Given the description of an element on the screen output the (x, y) to click on. 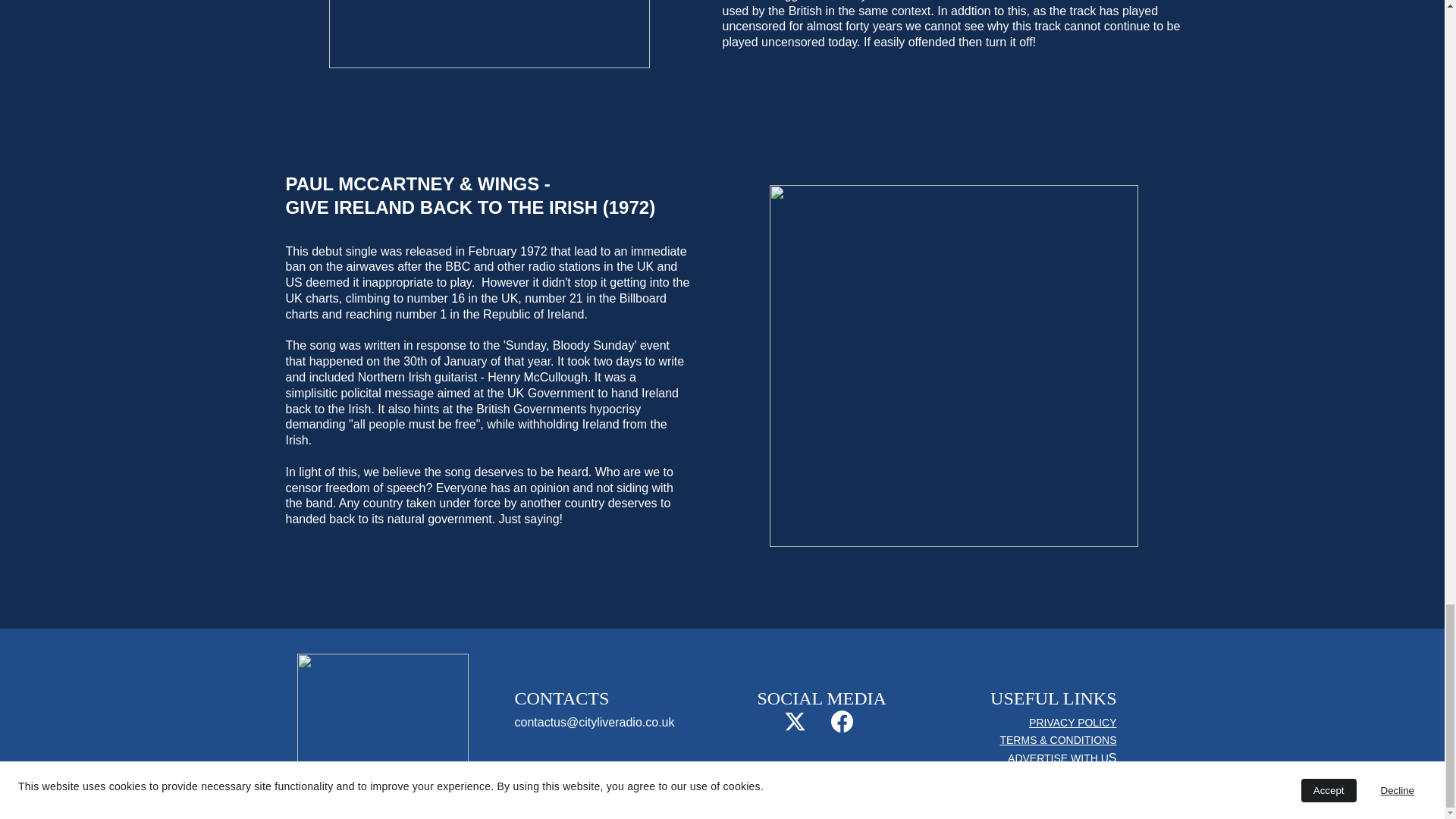
PRIVACY POLICY (1072, 722)
Go to Twitter page (795, 721)
CityLIVE Radio C.I.C. (765, 805)
Go to Facebook page (842, 721)
ADVERTISE WITH U (1057, 758)
